Given the description of an element on the screen output the (x, y) to click on. 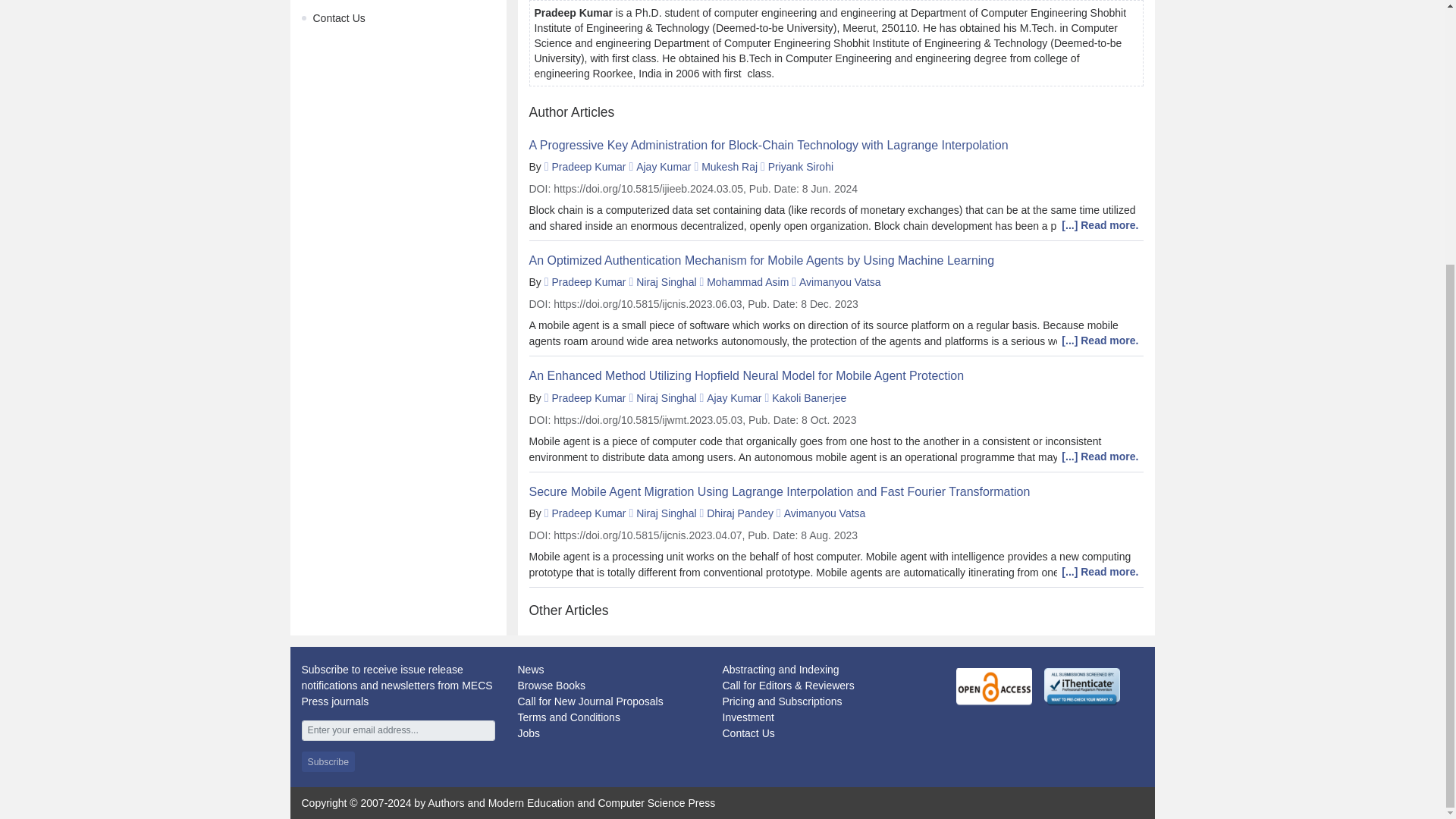
Abstracting and Indexing (780, 669)
News (529, 669)
Kakoli Banerjee (808, 398)
Pradeep Kumar (588, 282)
Mohammad Asim (747, 282)
Niraj Singhal (665, 398)
Niraj Singhal (665, 512)
Browse Books (550, 685)
